Given the description of an element on the screen output the (x, y) to click on. 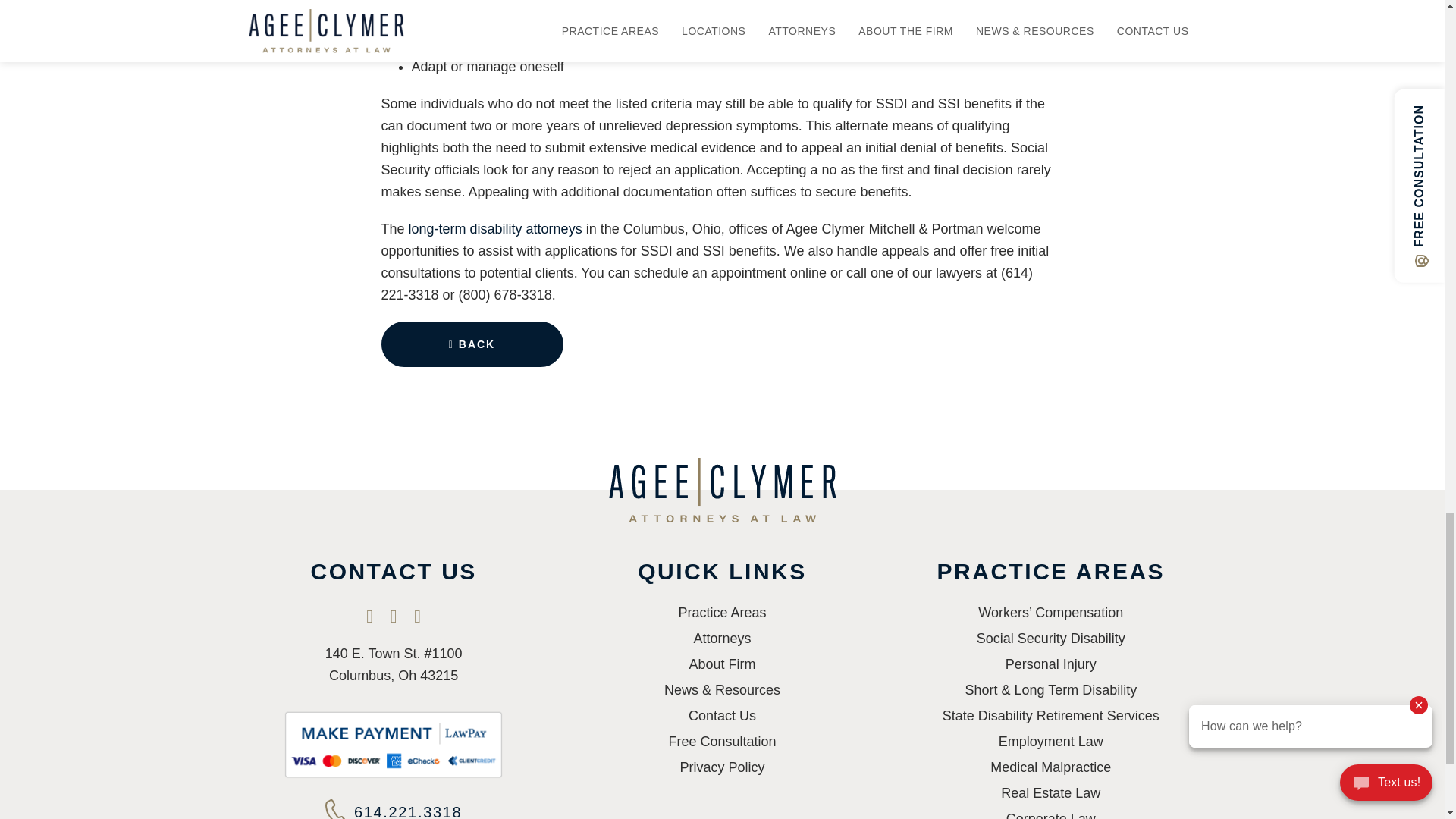
long-term disability attorneys (495, 228)
BACK (471, 344)
